Given the description of an element on the screen output the (x, y) to click on. 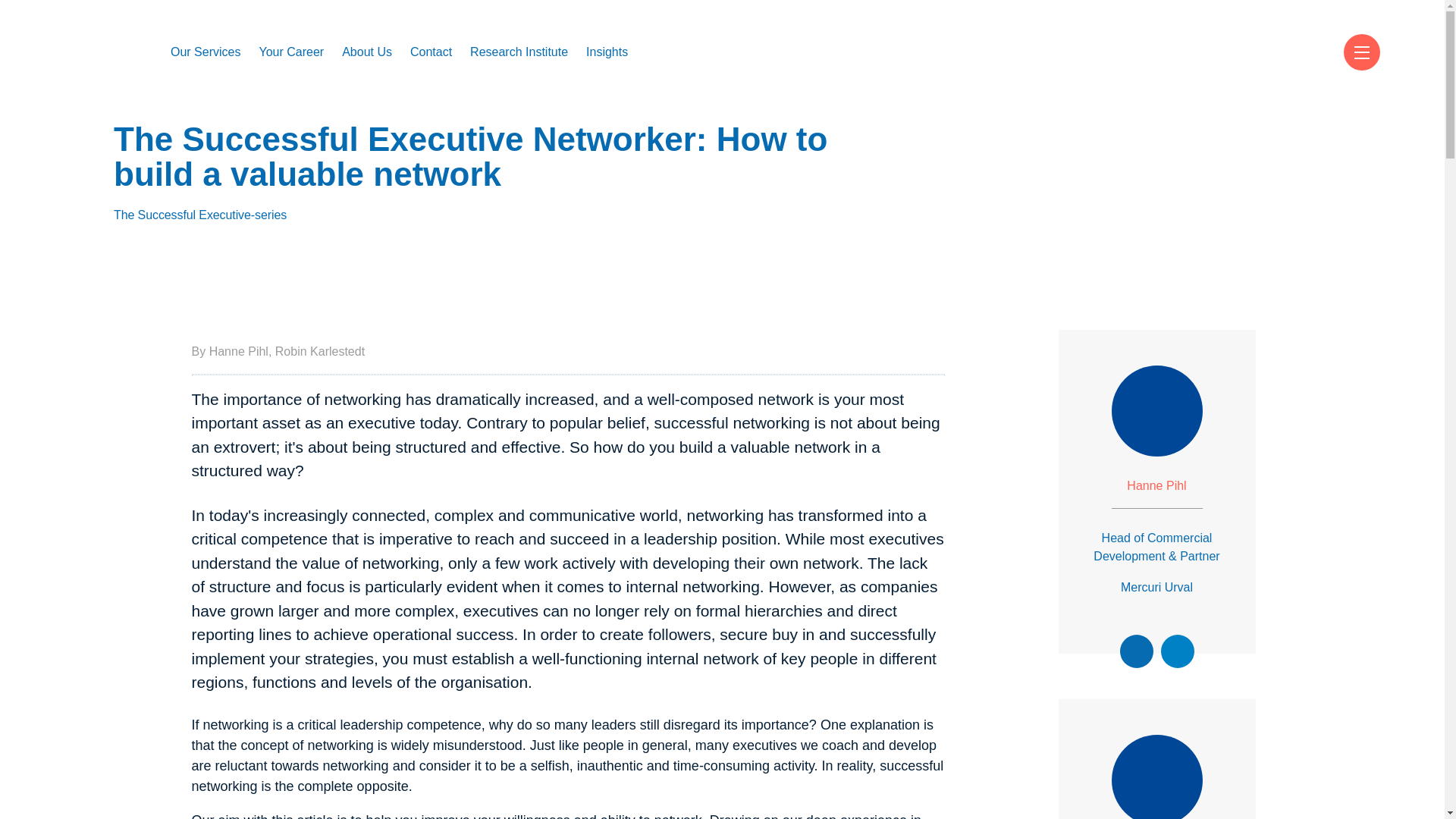
Mercuri Urval Logo (92, 51)
Your Career (291, 51)
Our Vision (378, 233)
Our Values and Code of Conduct (431, 233)
ESG (194, 354)
Energy (199, 354)
Public (197, 354)
About Us (366, 51)
Mercuri Urval Logo (92, 46)
Consumer (207, 354)
Our Services (205, 51)
Mercuri Urval Logo (92, 46)
Life Sciences (214, 354)
Our History (380, 233)
Financial Services (226, 354)
